Given the description of an element on the screen output the (x, y) to click on. 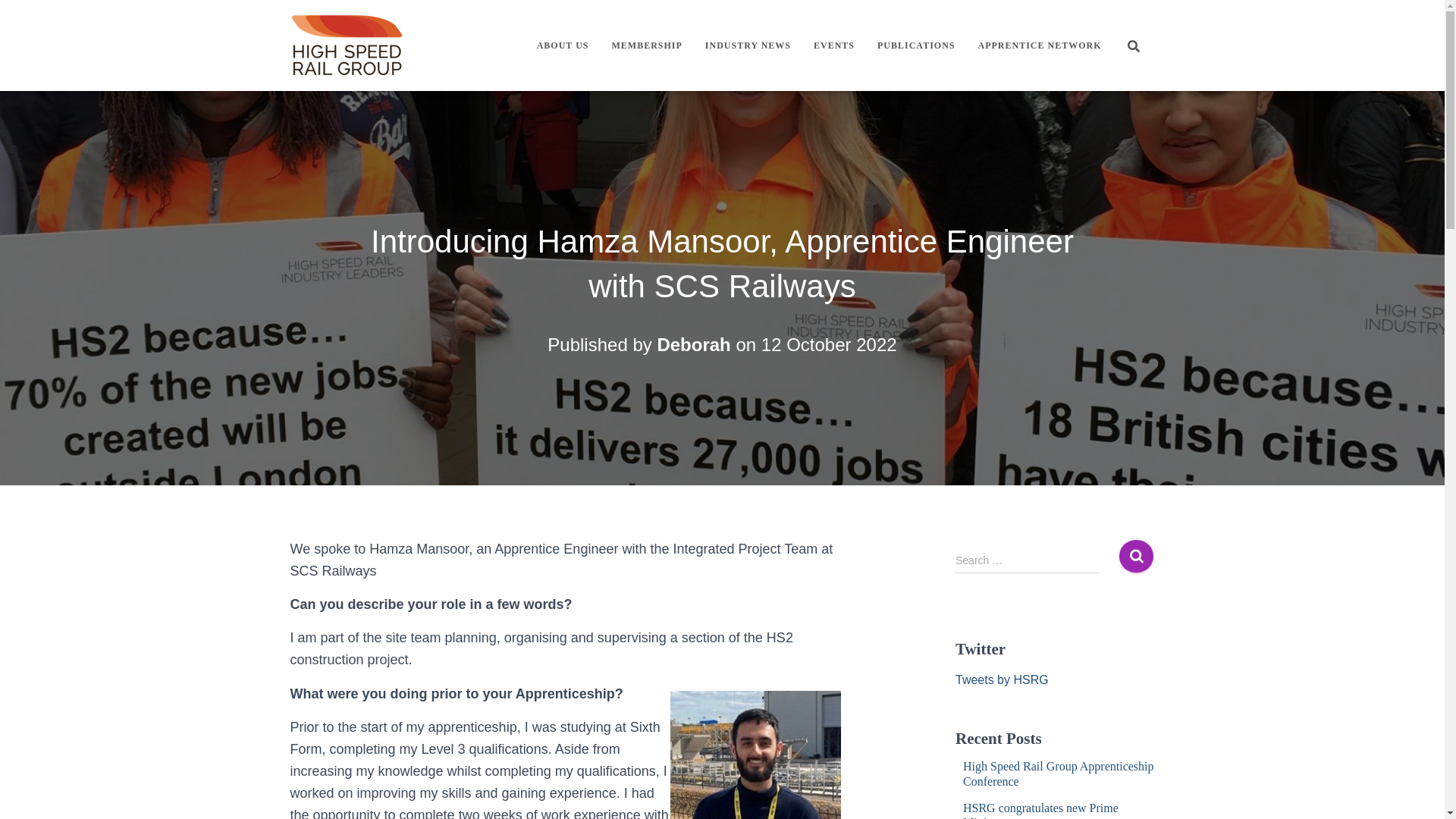
Publications (916, 45)
APPRENTICE NETWORK (1039, 45)
Membership (646, 45)
PUBLICATIONS (916, 45)
About us (562, 45)
HSRG congratulates new Prime Minister (1040, 810)
Events (834, 45)
High Speed Rail Group Apprenticeship Conference (1058, 773)
Apprentice Network (1039, 45)
Search (1136, 555)
Search (1136, 555)
High-Speed Rail Group (346, 45)
Industry News (748, 45)
MEMBERSHIP (646, 45)
INDUSTRY NEWS (748, 45)
